Given the description of an element on the screen output the (x, y) to click on. 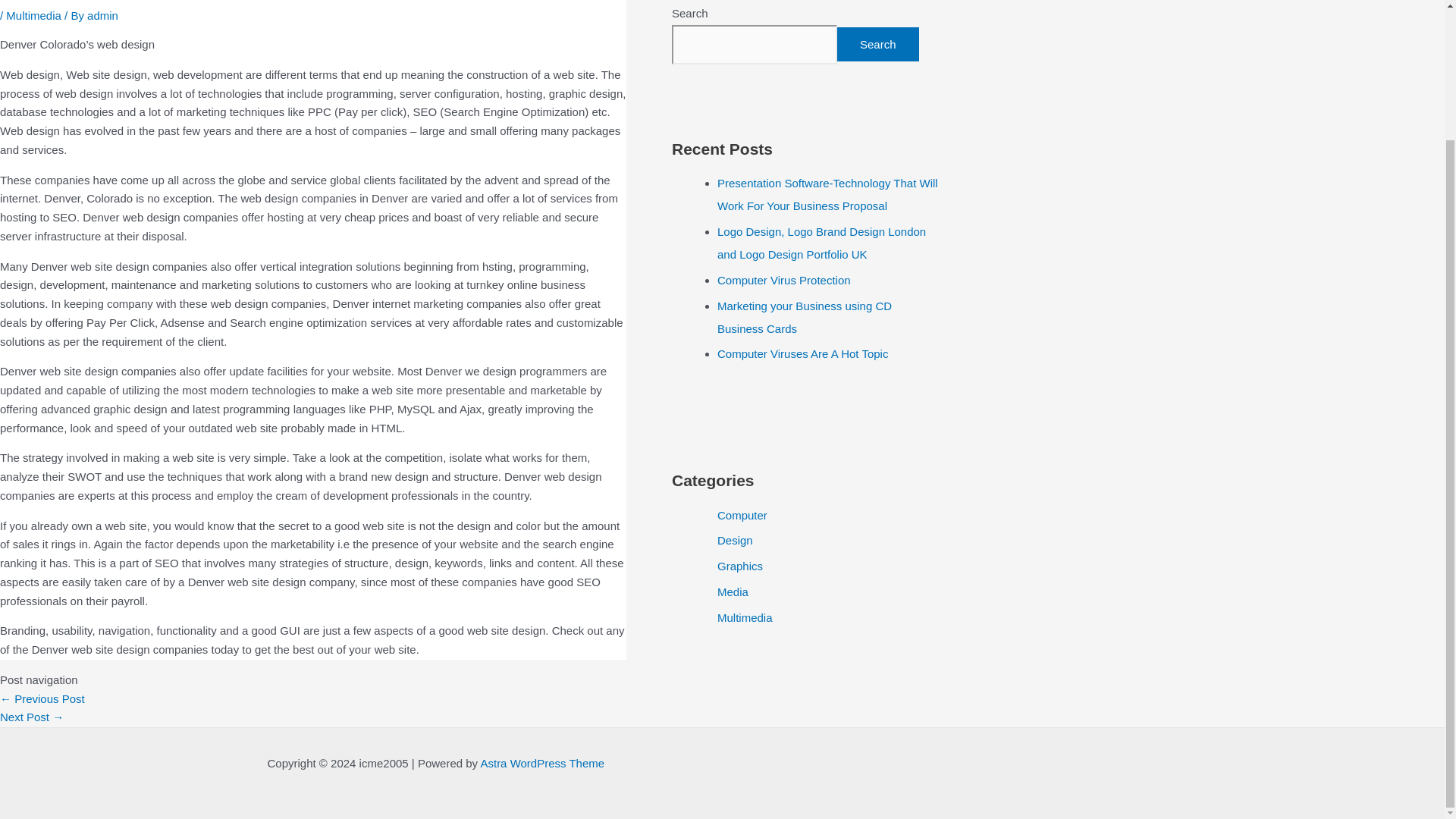
Computer Security Vital (42, 698)
Design (734, 540)
Computer Viruses Are A Hot Topic (802, 353)
Media (732, 591)
Search (877, 44)
Multimedia (33, 15)
Things To Remember About Anti Virus (32, 716)
Computer (742, 514)
Graphics (739, 565)
